Given the description of an element on the screen output the (x, y) to click on. 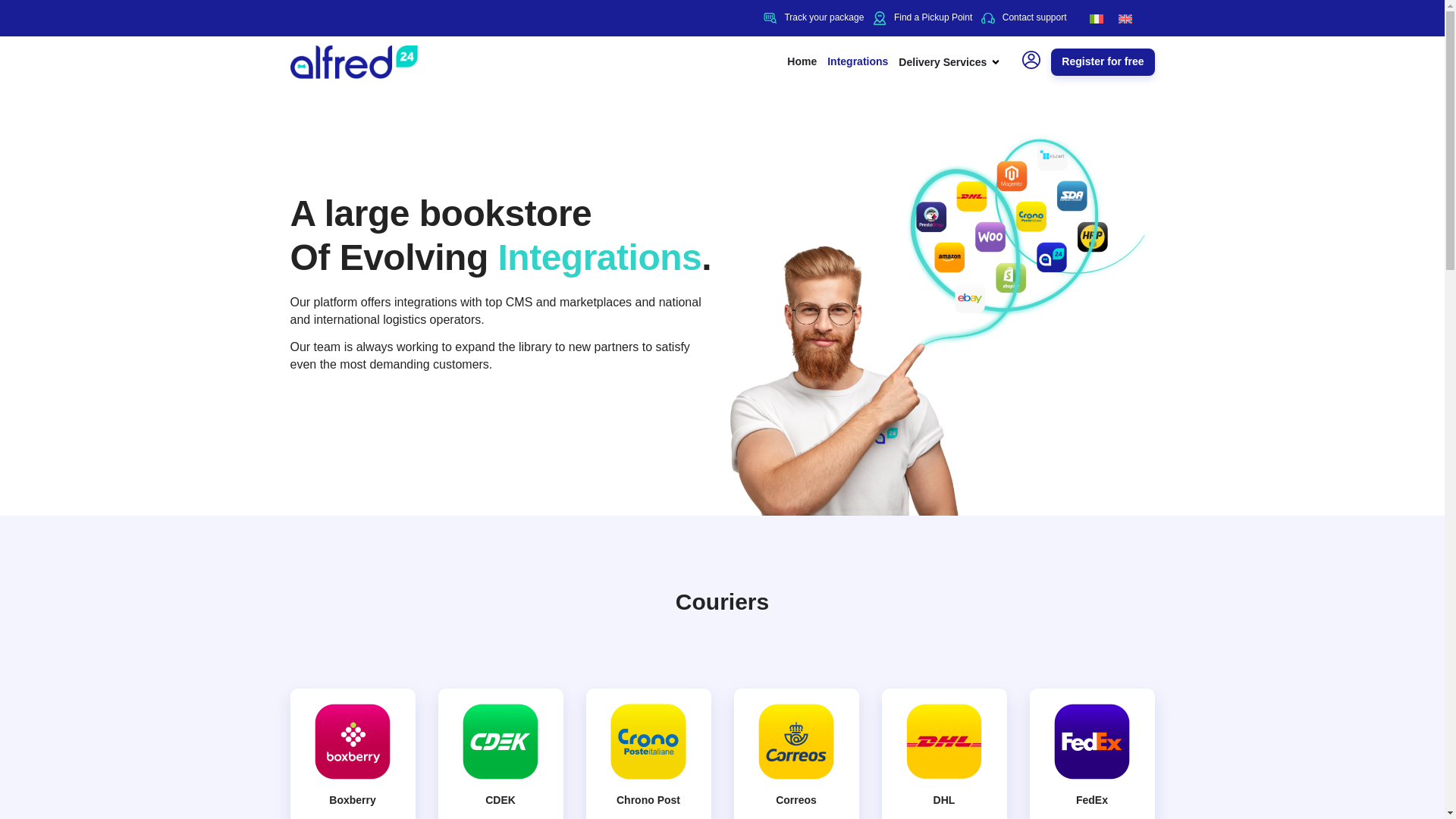
Home (801, 61)
Contact support (1023, 18)
DHL (944, 799)
Register for free (1102, 62)
Integrations (857, 61)
Track your package (812, 18)
FedEx (1091, 799)
Boxberry (352, 799)
Correos (796, 799)
Chrono Post (647, 799)
